Given the description of an element on the screen output the (x, y) to click on. 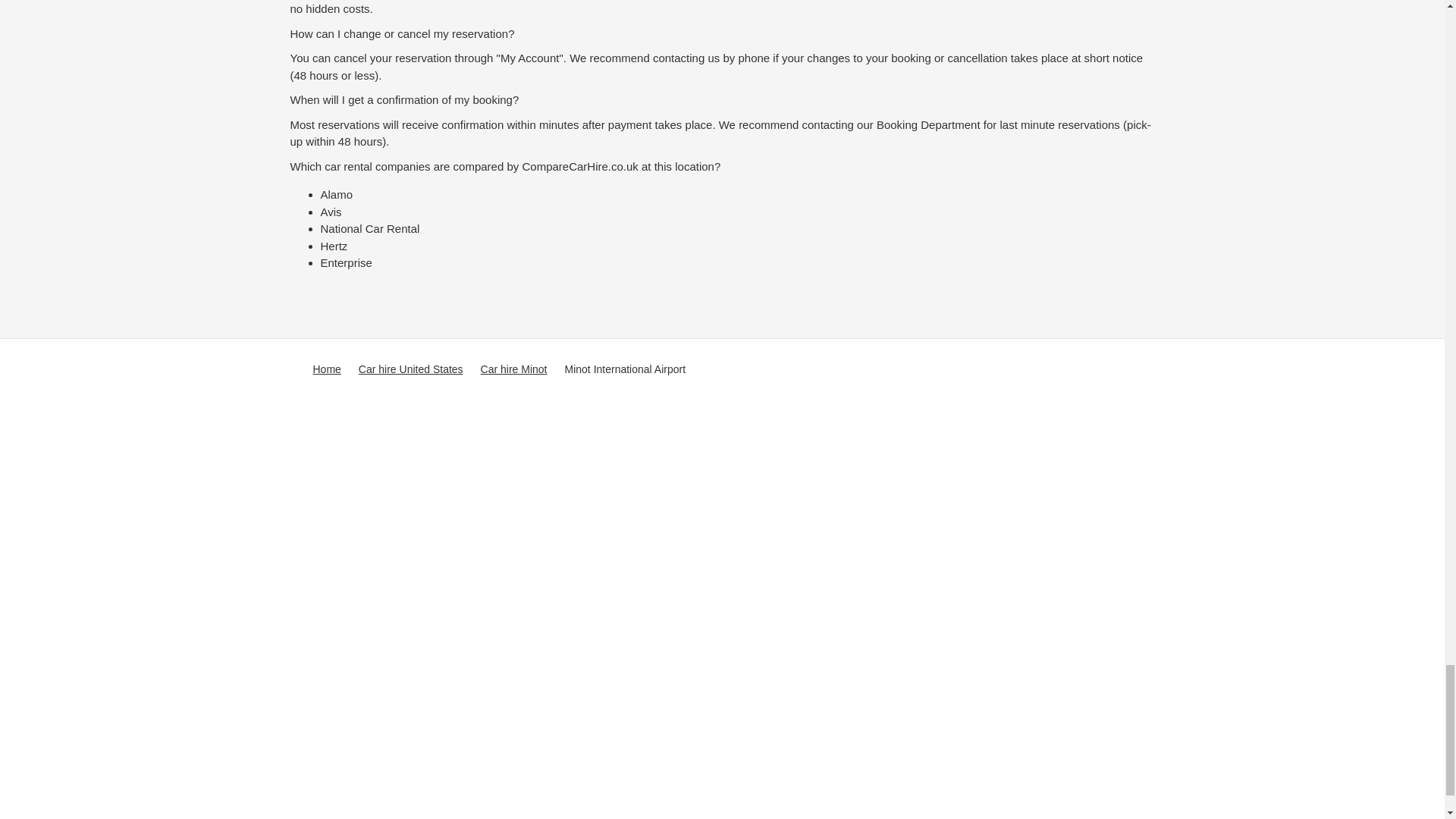
Car hire United States (410, 369)
Car hire Minot (513, 369)
Home (326, 369)
